Given the description of an element on the screen output the (x, y) to click on. 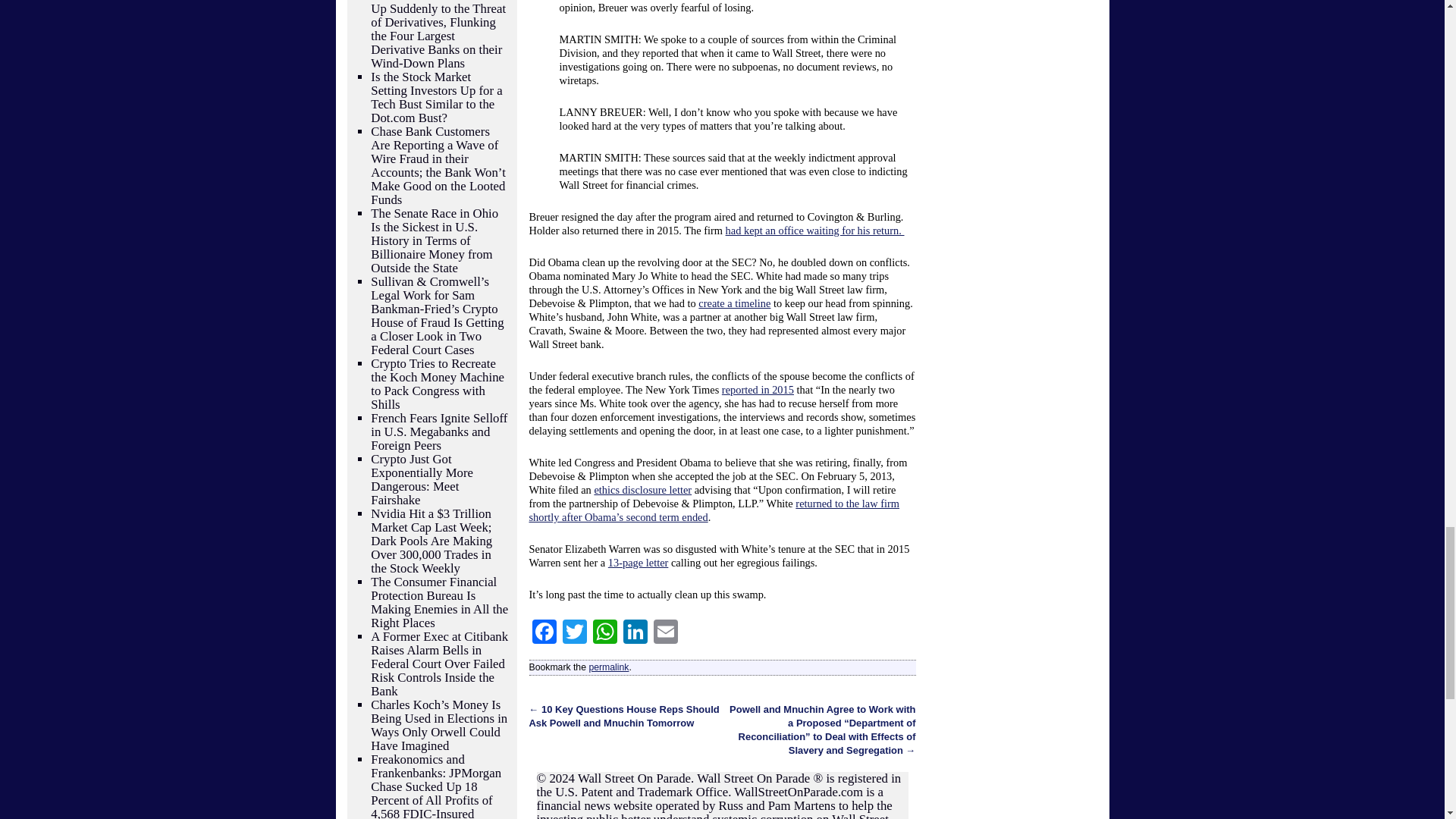
had kept an office waiting for his return.  (814, 230)
13-page letter (638, 562)
Facebook (544, 633)
Twitter (574, 633)
permalink (608, 666)
Email (665, 633)
Facebook (544, 633)
WhatsApp (604, 633)
reported in 2015 (757, 389)
ethics disclosure letter (642, 490)
